Given the description of an element on the screen output the (x, y) to click on. 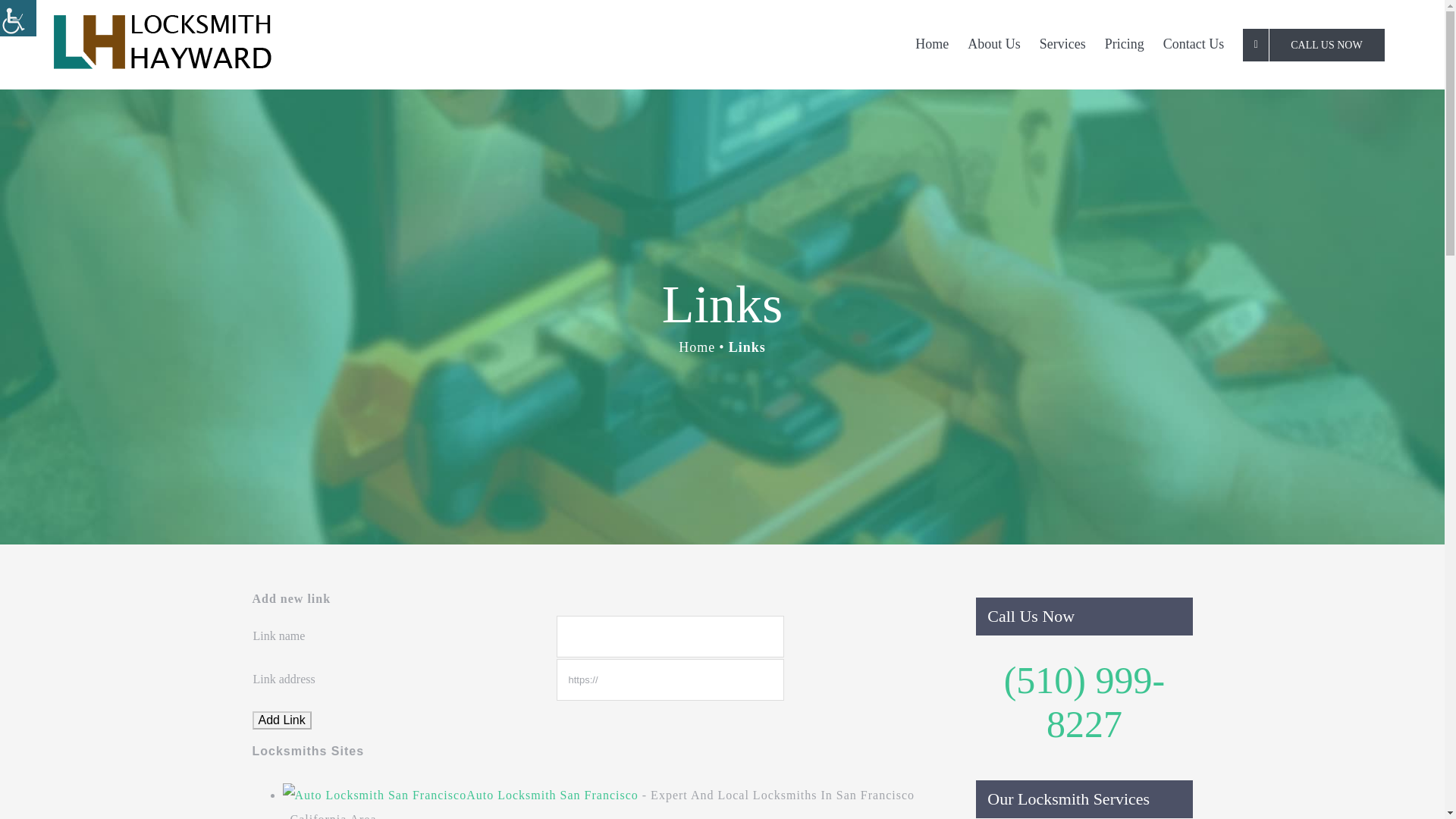
Contact Us (1193, 43)
About Locksmith Hayward (994, 43)
Auto Locksmith San Francisco (552, 794)
Home (931, 43)
Locksmith Hayward (931, 43)
Pricing (1123, 43)
About Us (994, 43)
Locksmith Services (1061, 43)
Add Link (281, 720)
Services (1061, 43)
CALL US NOW (1313, 44)
Add Link (281, 720)
Home (696, 346)
